Given the description of an element on the screen output the (x, y) to click on. 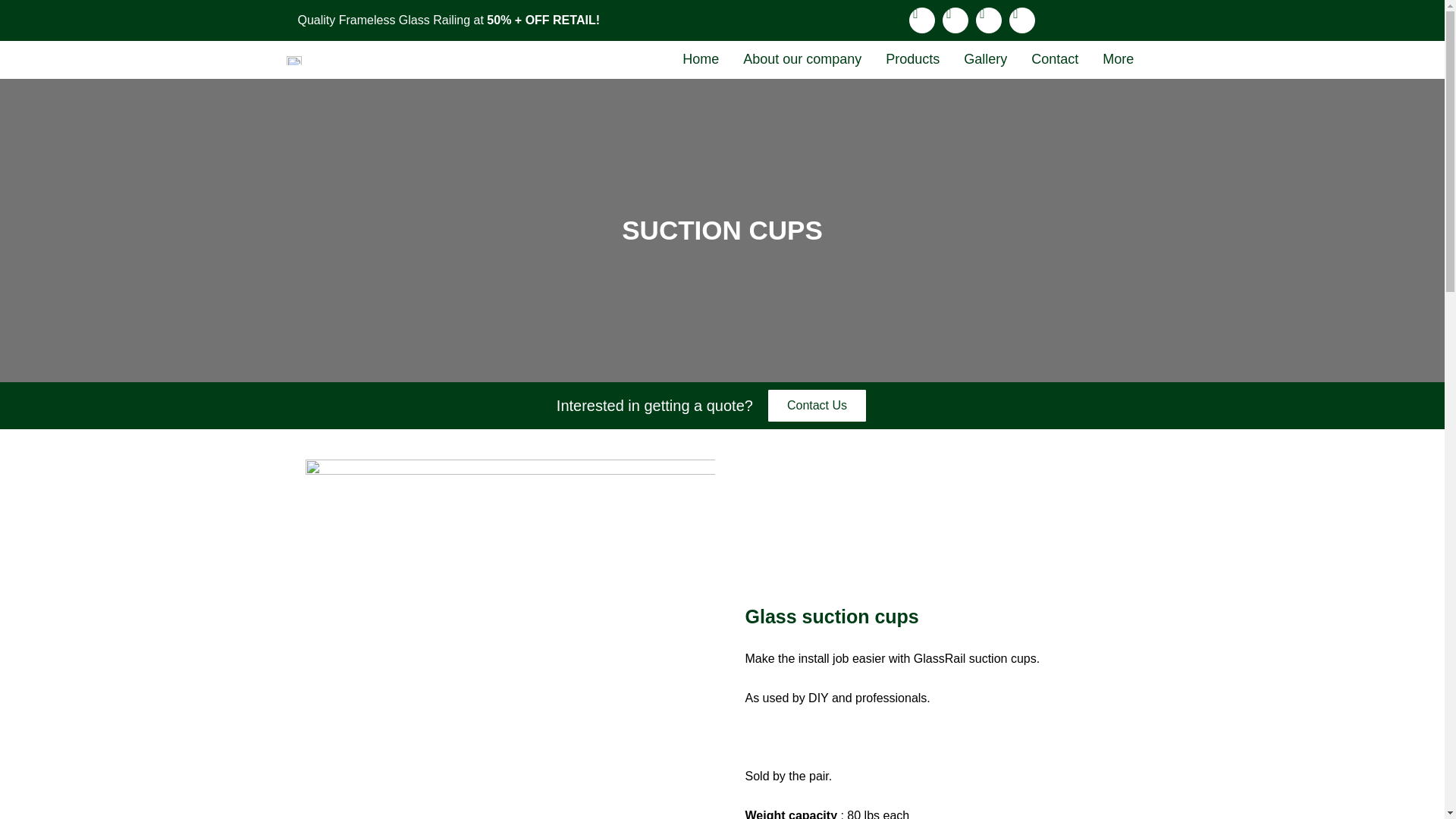
About our company (801, 59)
Gallery (985, 59)
Products (912, 59)
Contact (1054, 59)
Home (699, 59)
Contact Us (817, 405)
More (1117, 59)
